Given the description of an element on the screen output the (x, y) to click on. 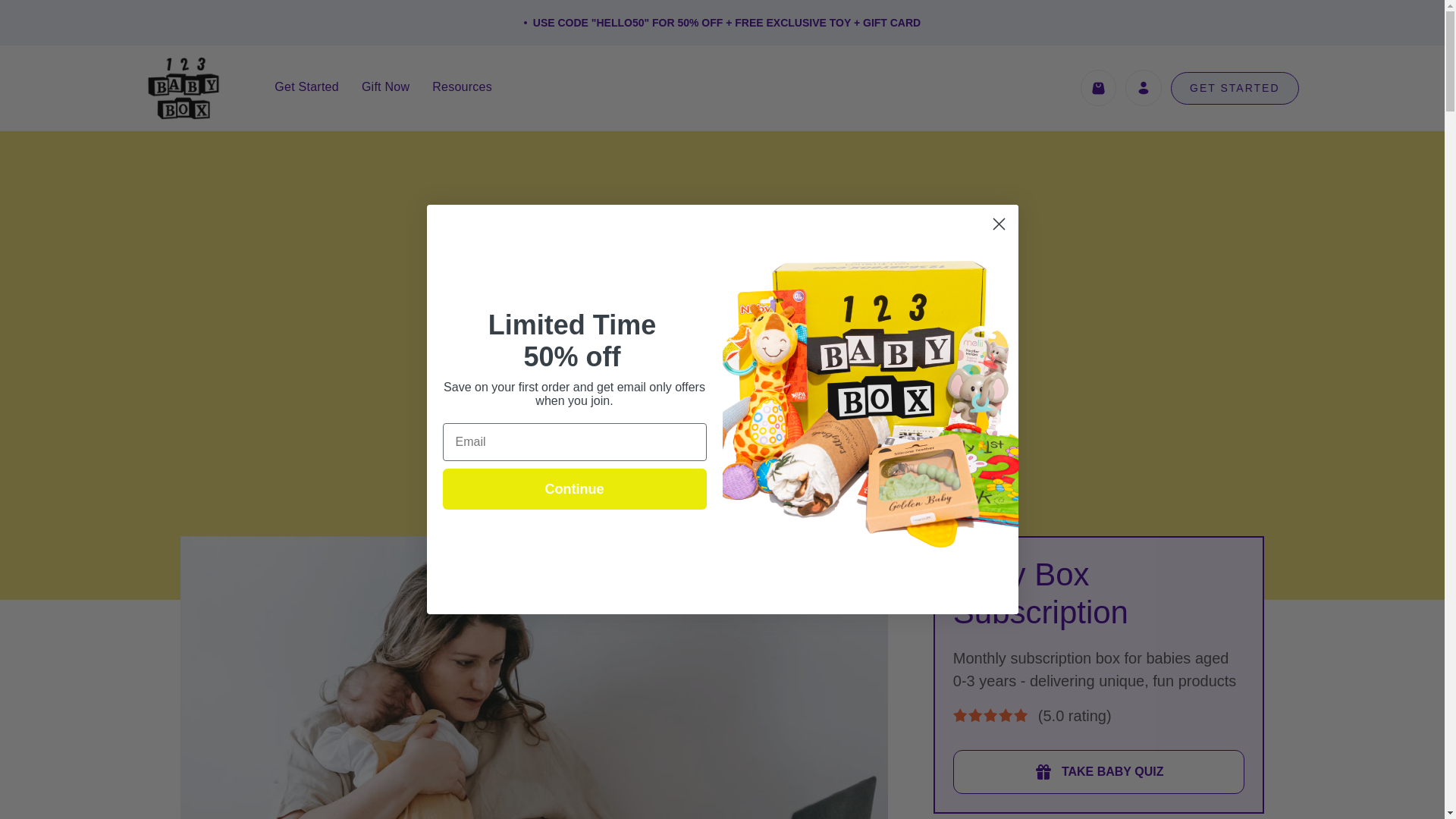
Gift Now (384, 86)
Get Started (306, 86)
TAKE OUR BABY QUIZ (722, 436)
TAKE BABY QUIZ (1098, 771)
Resources (462, 86)
GET STARTED (1234, 88)
